Given the description of an element on the screen output the (x, y) to click on. 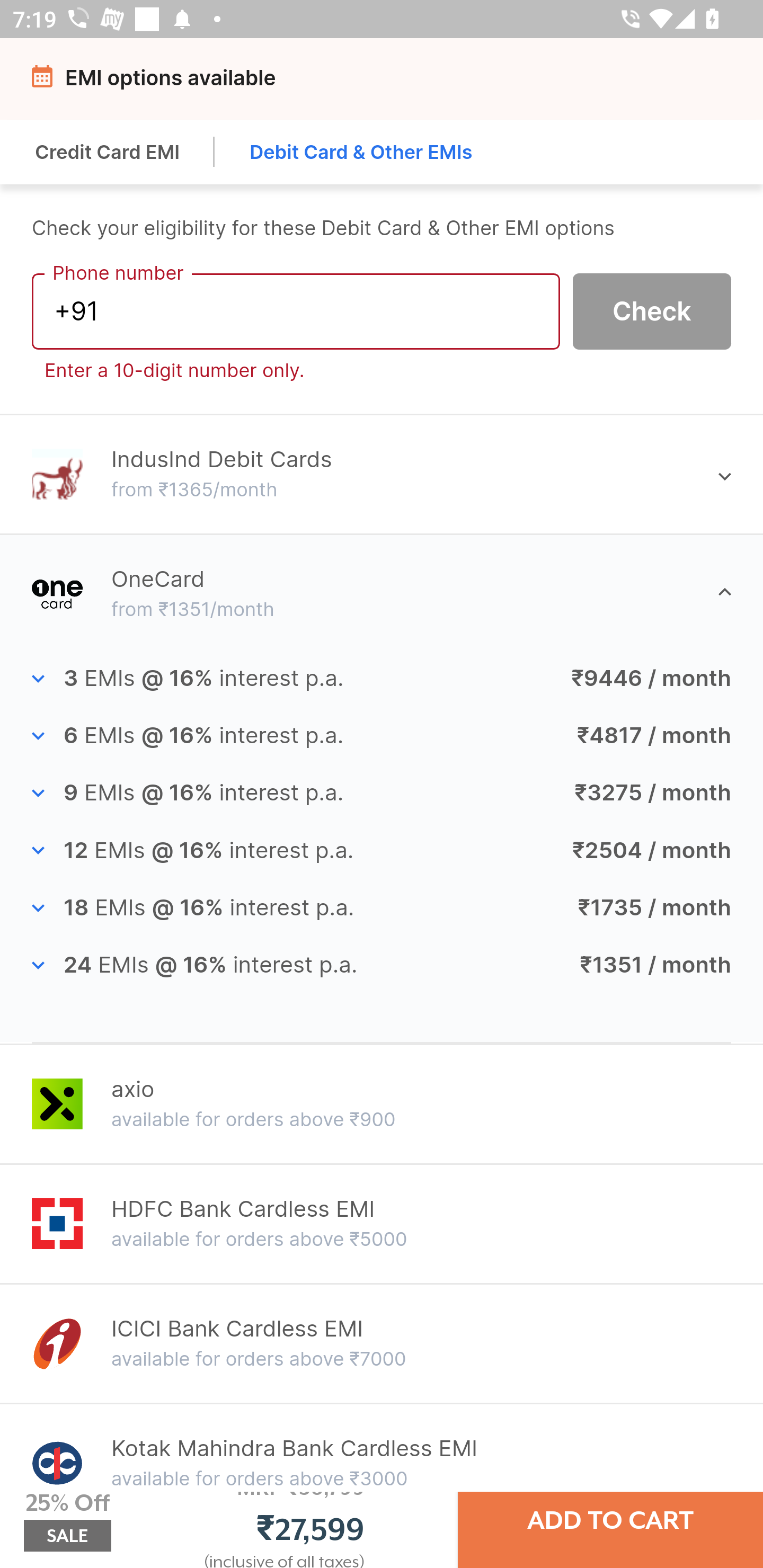
Navigate up (44, 82)
Credit Card EMI (107, 152)
Debit Card & Other EMIs (361, 152)
Check (651, 310)
OneCard OneCard from ₹1351/month (381, 593)
3 EMIs @ 16% interest p.a. ₹9446 / month (381, 678)
6 EMIs @ 16% interest p.a. ₹4817 / month (381, 735)
9 EMIs @ 16% interest p.a. ₹3275 / month (381, 793)
12 EMIs @ 16% interest p.a. ₹2504 / month (381, 850)
18 EMIs @ 16% interest p.a. ₹1735 / month (381, 908)
24 EMIs @ 16% interest p.a. ₹1351 / month (381, 964)
ADD TO CART (610, 1520)
